Given the description of an element on the screen output the (x, y) to click on. 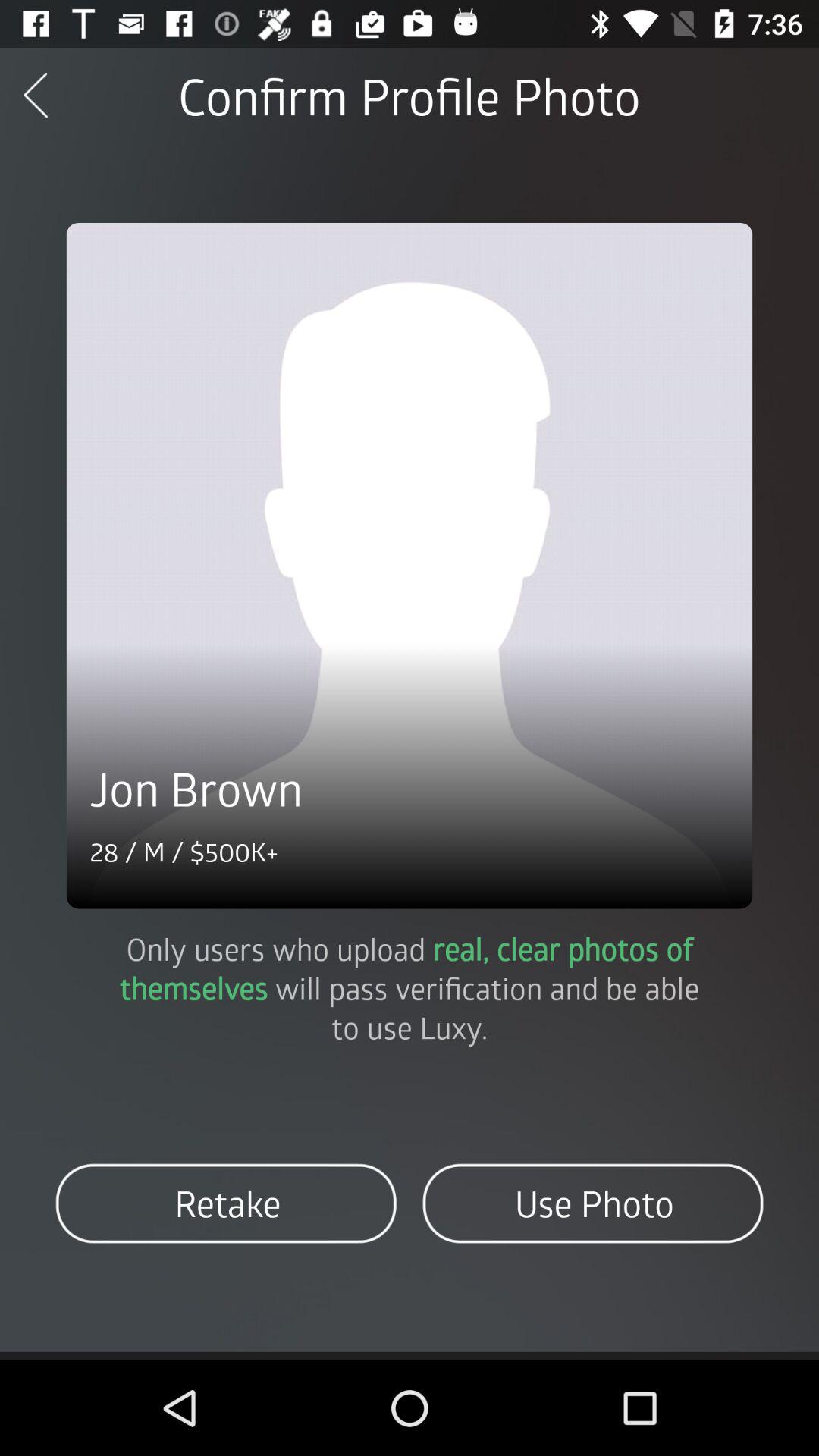
select item at the bottom right corner (592, 1203)
